Given the description of an element on the screen output the (x, y) to click on. 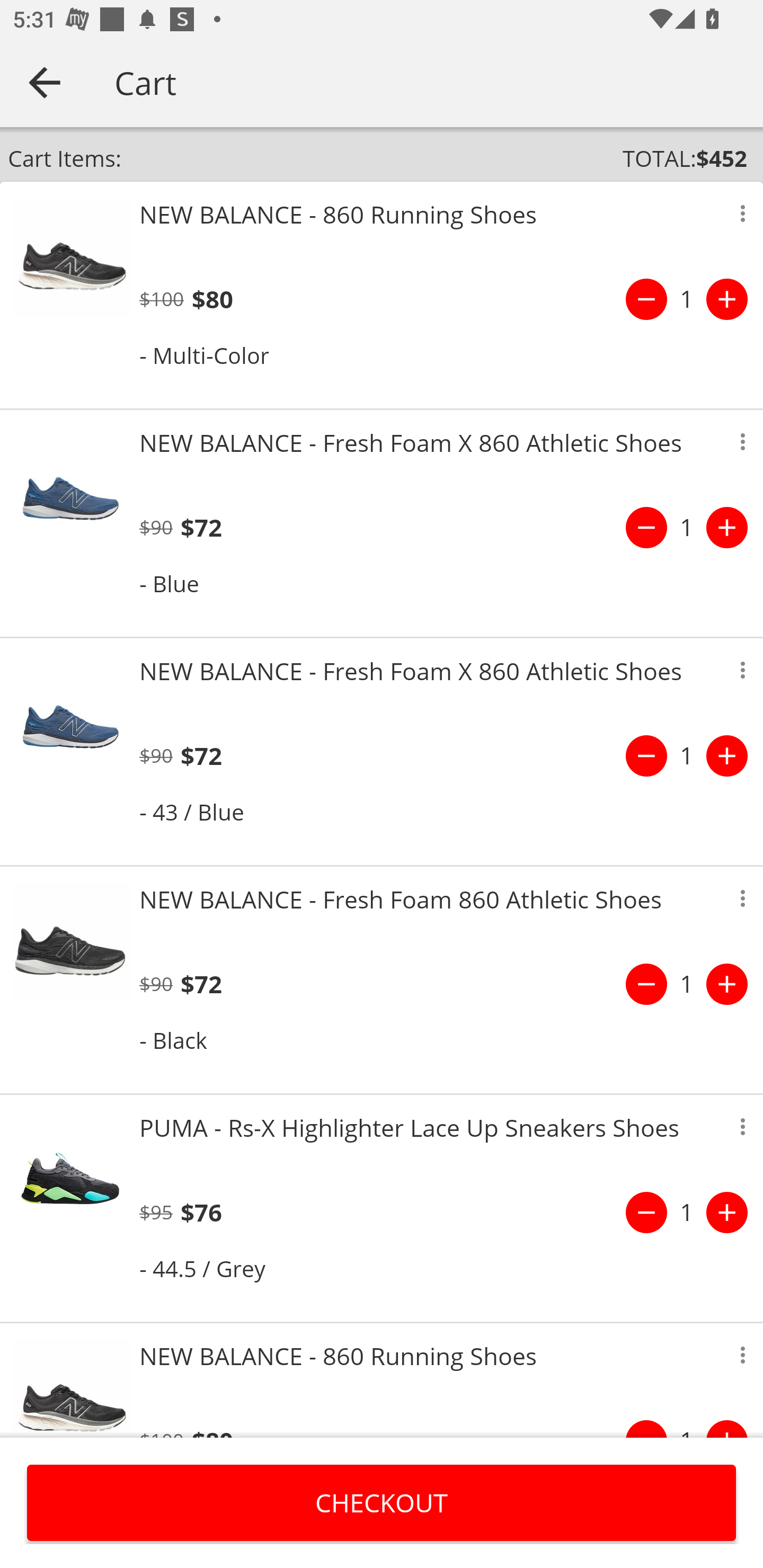
Navigate up (44, 82)
1 (686, 299)
1 (686, 527)
1 (686, 755)
1 (686, 984)
1 (686, 1211)
NEW BALANCE - 860 Running Shoes $100 $80 1 (381, 1380)
CHECKOUT (381, 1502)
